Given the description of an element on the screen output the (x, y) to click on. 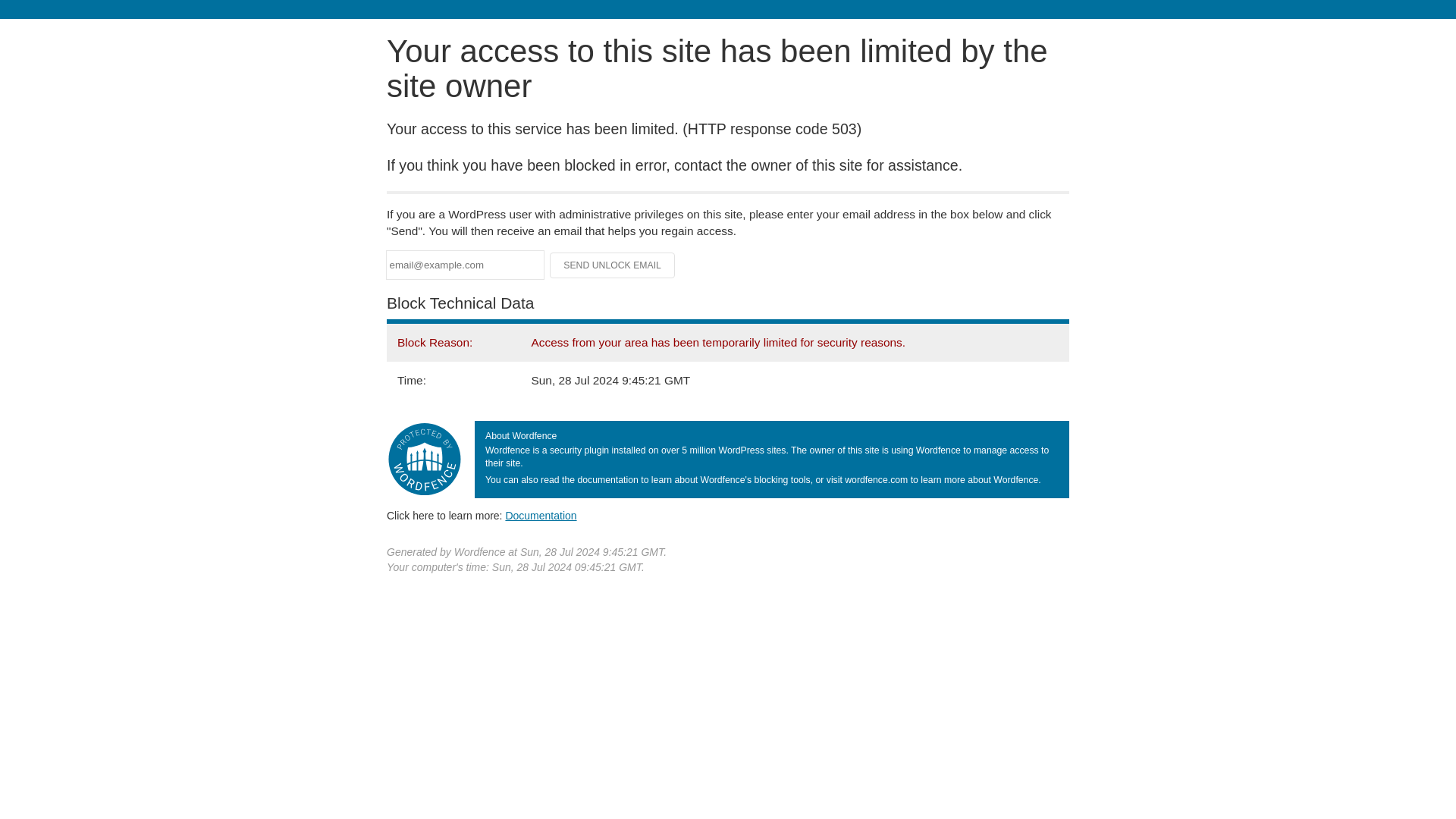
Send Unlock Email (612, 265)
Documentation (540, 515)
Send Unlock Email (612, 265)
